Given the description of an element on the screen output the (x, y) to click on. 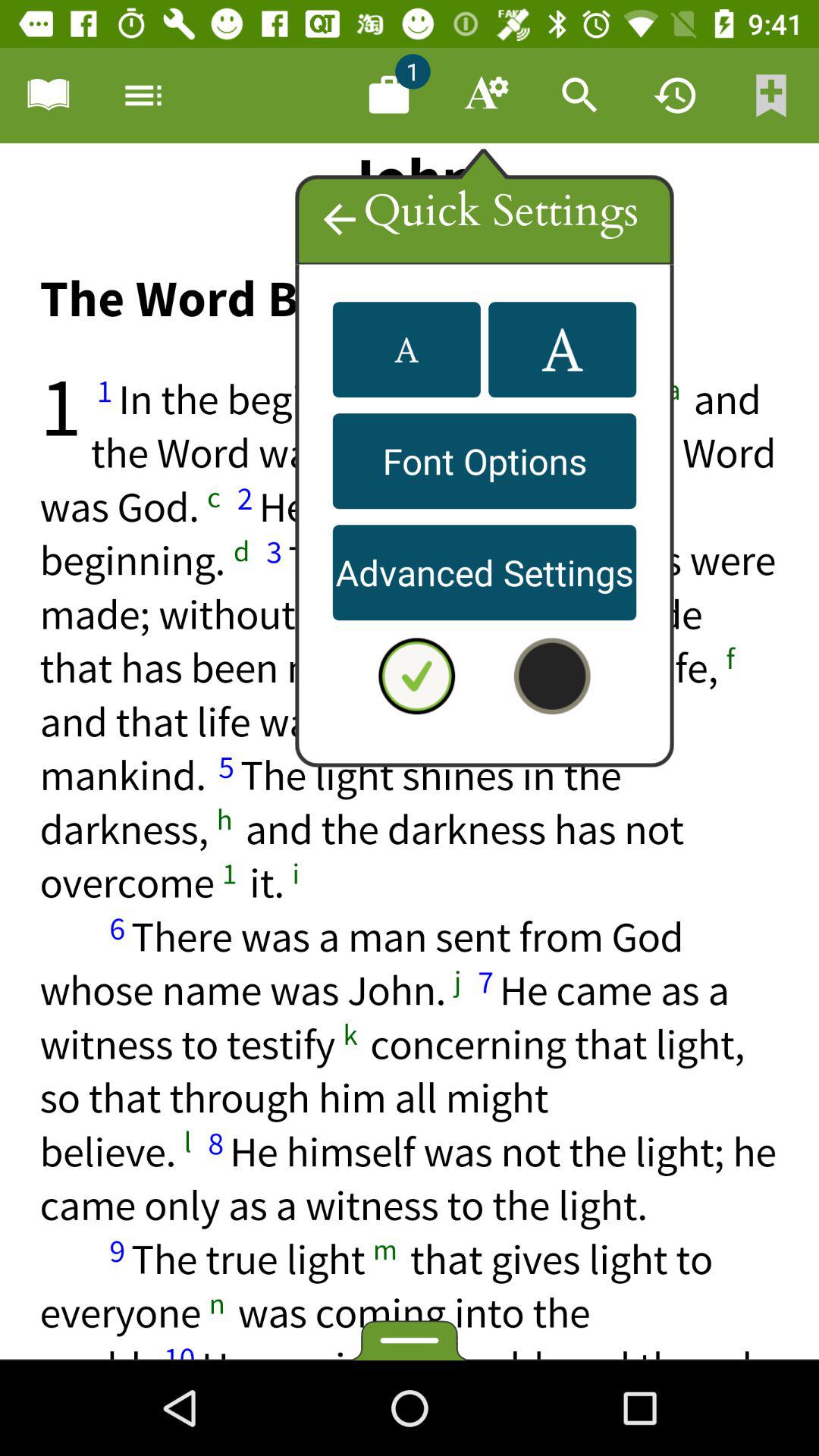
bookmark page (771, 95)
